Given the description of an element on the screen output the (x, y) to click on. 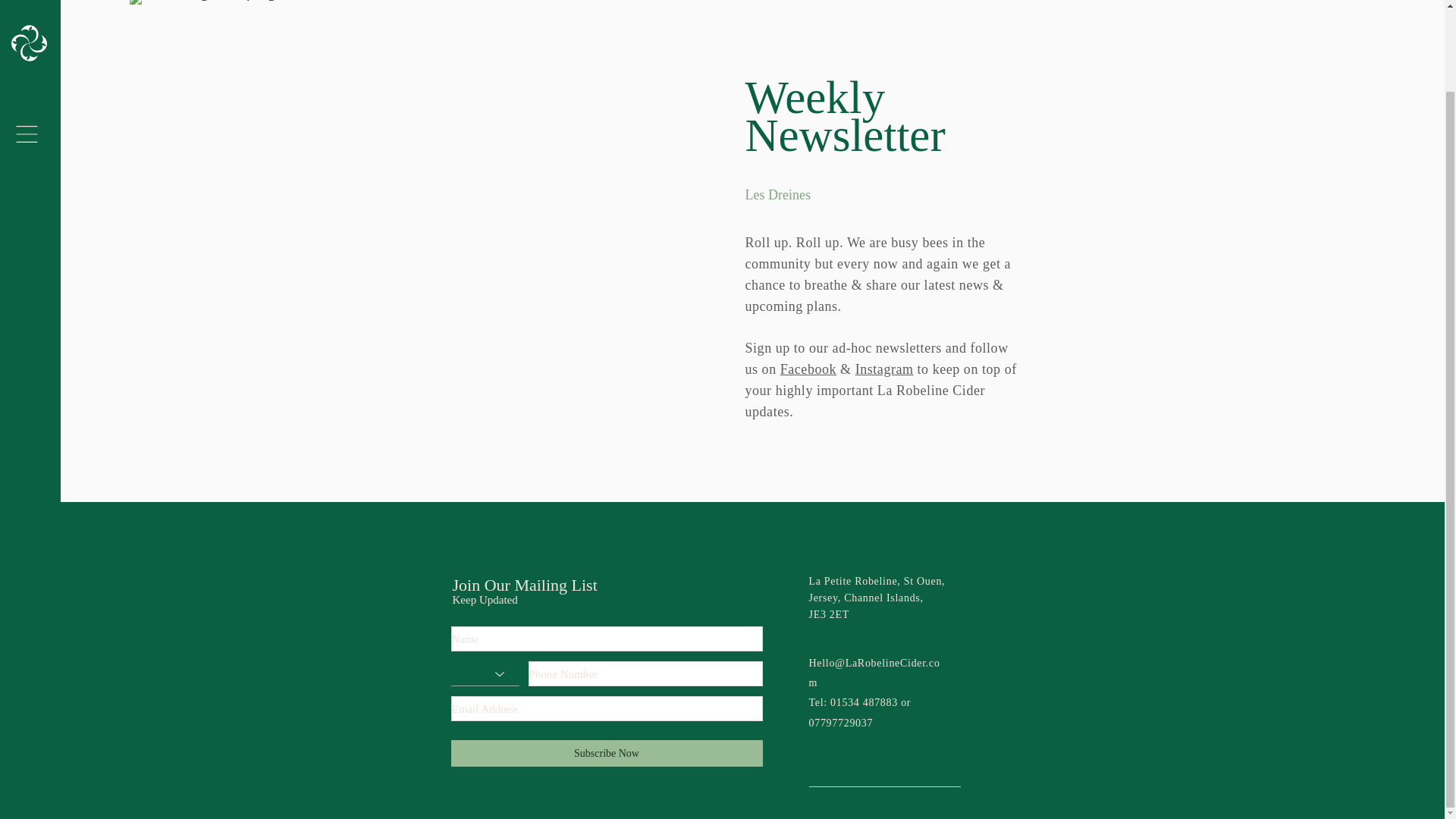
Facebook (807, 368)
Instagram (885, 368)
Subscribe Now (605, 753)
